Given the description of an element on the screen output the (x, y) to click on. 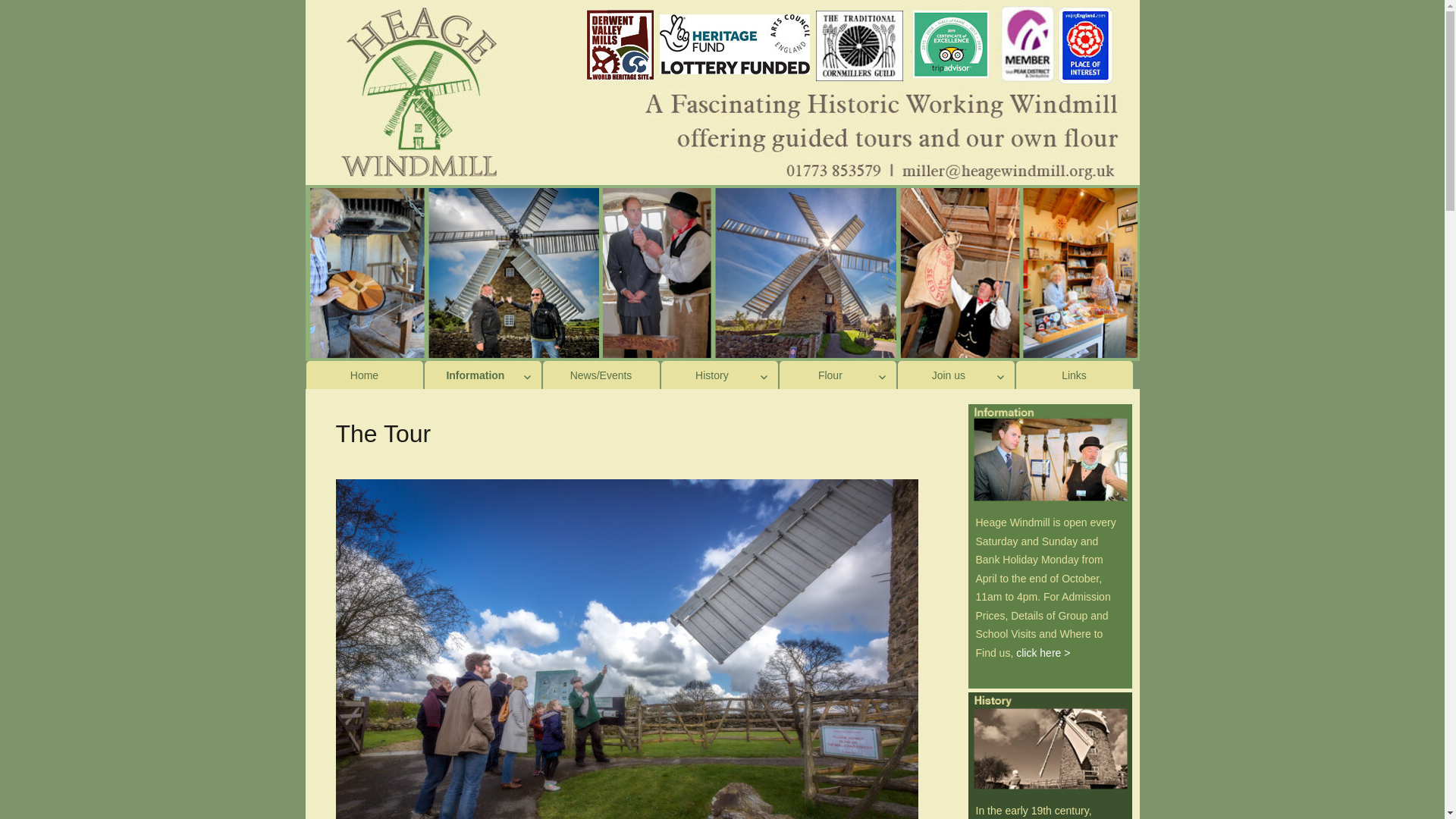
Join us (956, 375)
Flour (837, 375)
Links (1074, 375)
Home (364, 375)
Information (483, 375)
History (719, 375)
